Given the description of an element on the screen output the (x, y) to click on. 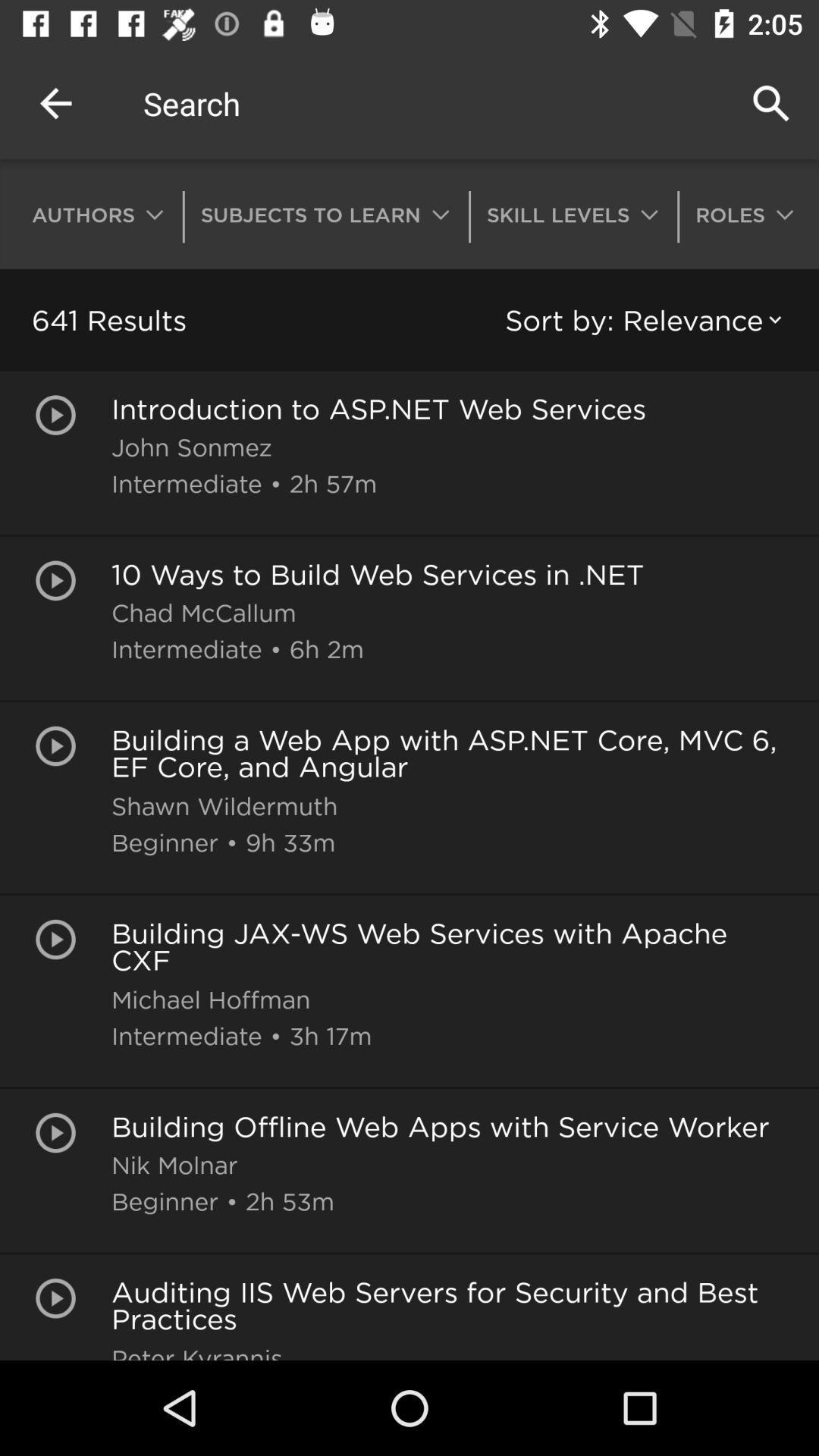
press the item above introduction to asp item (646, 319)
